Given the description of an element on the screen output the (x, y) to click on. 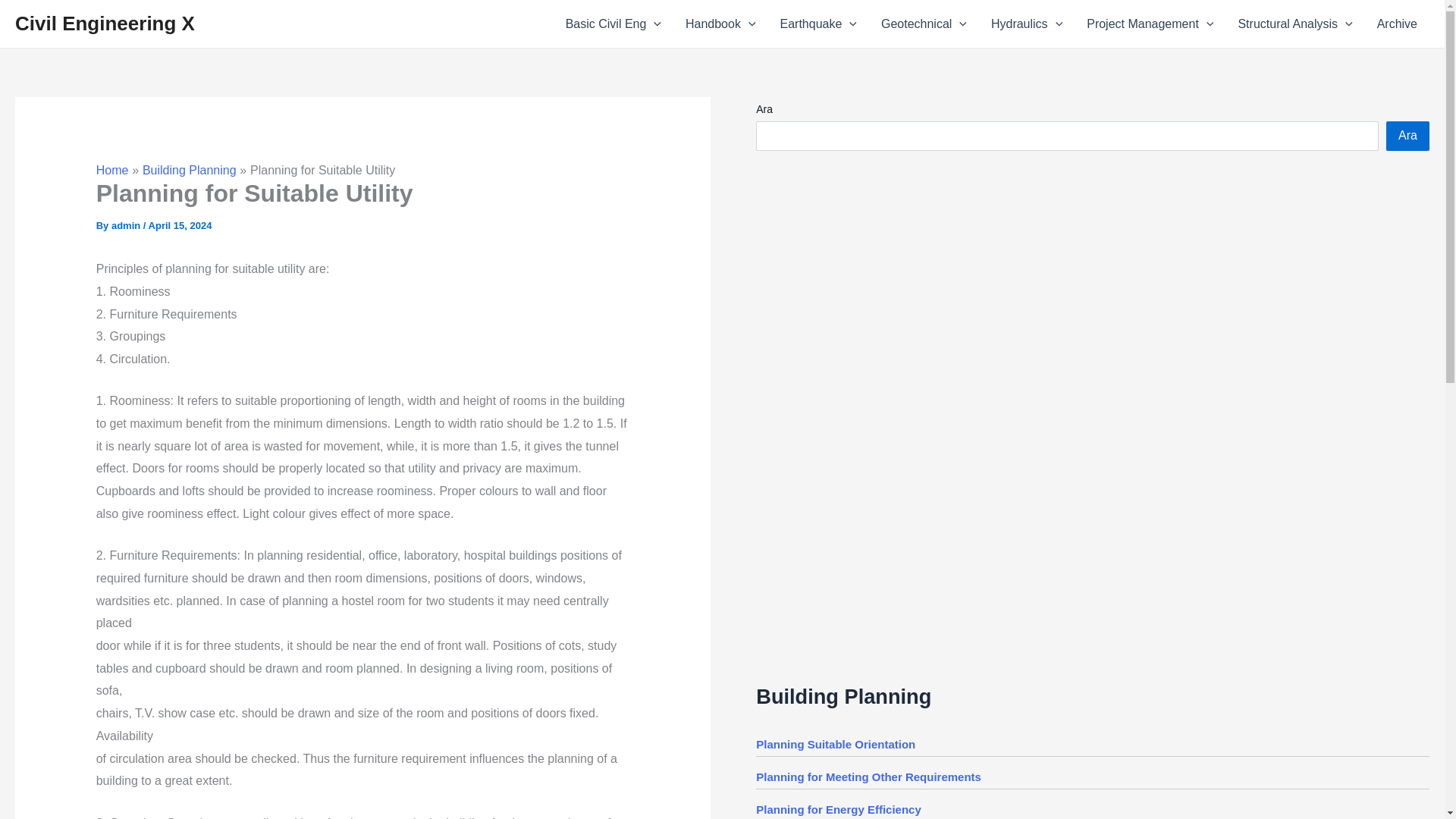
View all posts by admin (127, 225)
Planning Suitable Orientation (835, 744)
Planning for Energy Efficiency (838, 809)
Planning for Meeting Other Requirements (868, 776)
Basic Civil Eng (612, 23)
Civil Engineering X (104, 23)
Handbook (720, 23)
